Given the description of an element on the screen output the (x, y) to click on. 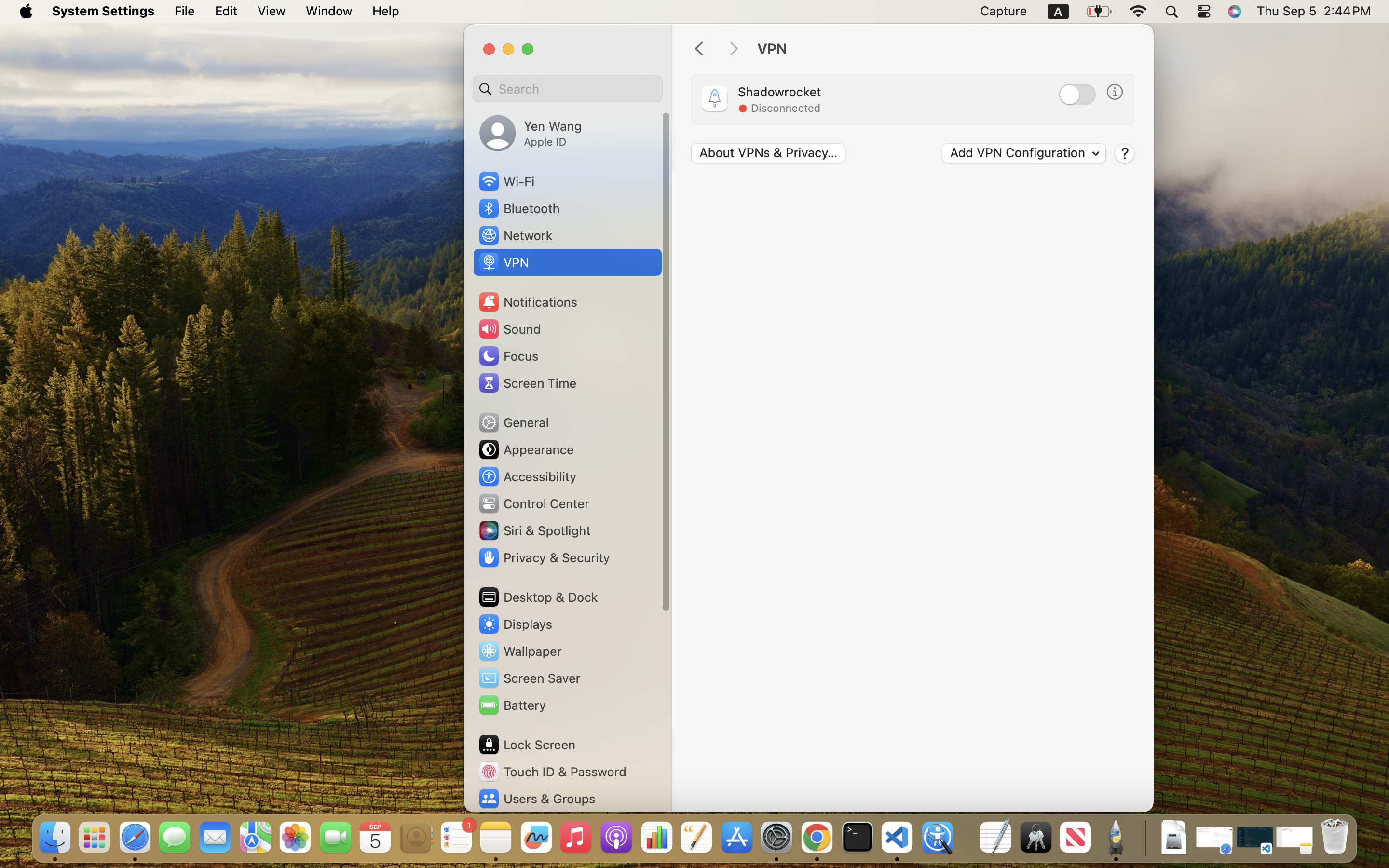
Displays Element type: AXStaticText (514, 623)
Notifications Element type: AXStaticText (527, 301)
Bluetooth Element type: AXStaticText (518, 207)
Appearance Element type: AXStaticText (525, 449)
Lock Screen Element type: AXStaticText (526, 744)
